Given the description of an element on the screen output the (x, y) to click on. 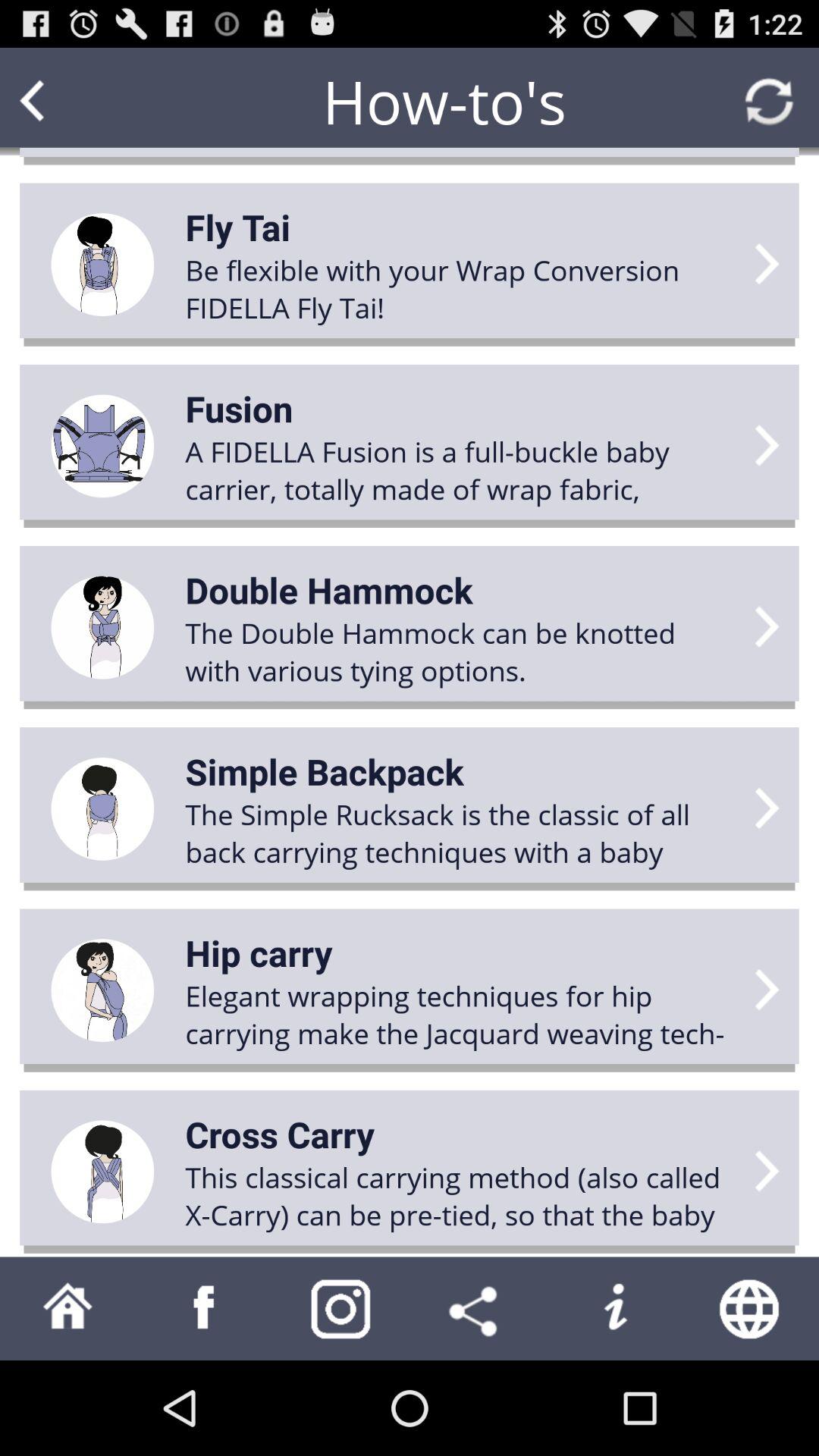
click hip carry (258, 952)
